Given the description of an element on the screen output the (x, y) to click on. 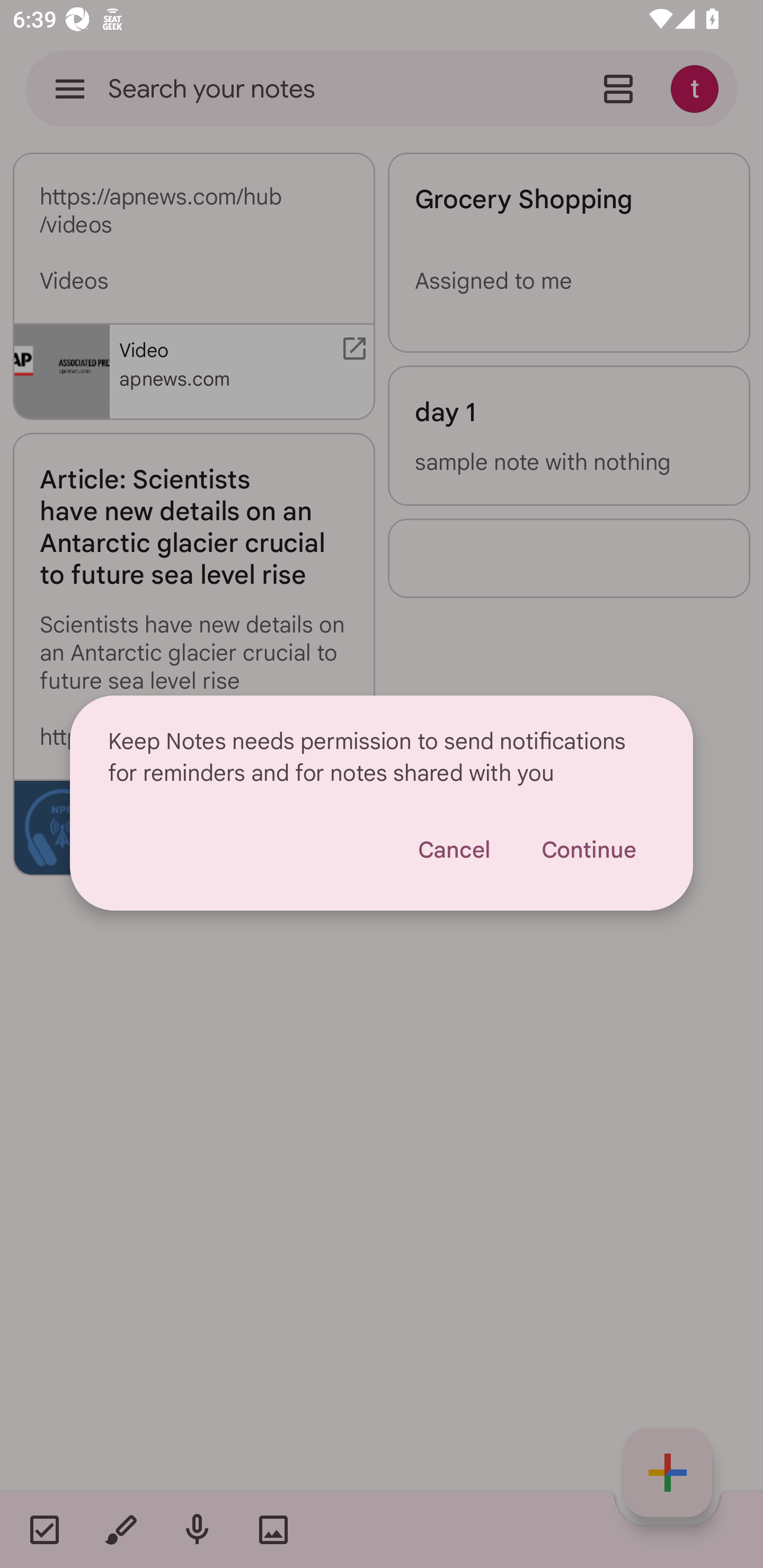
Cancel (453, 850)
Continue (587, 850)
